Given the description of an element on the screen output the (x, y) to click on. 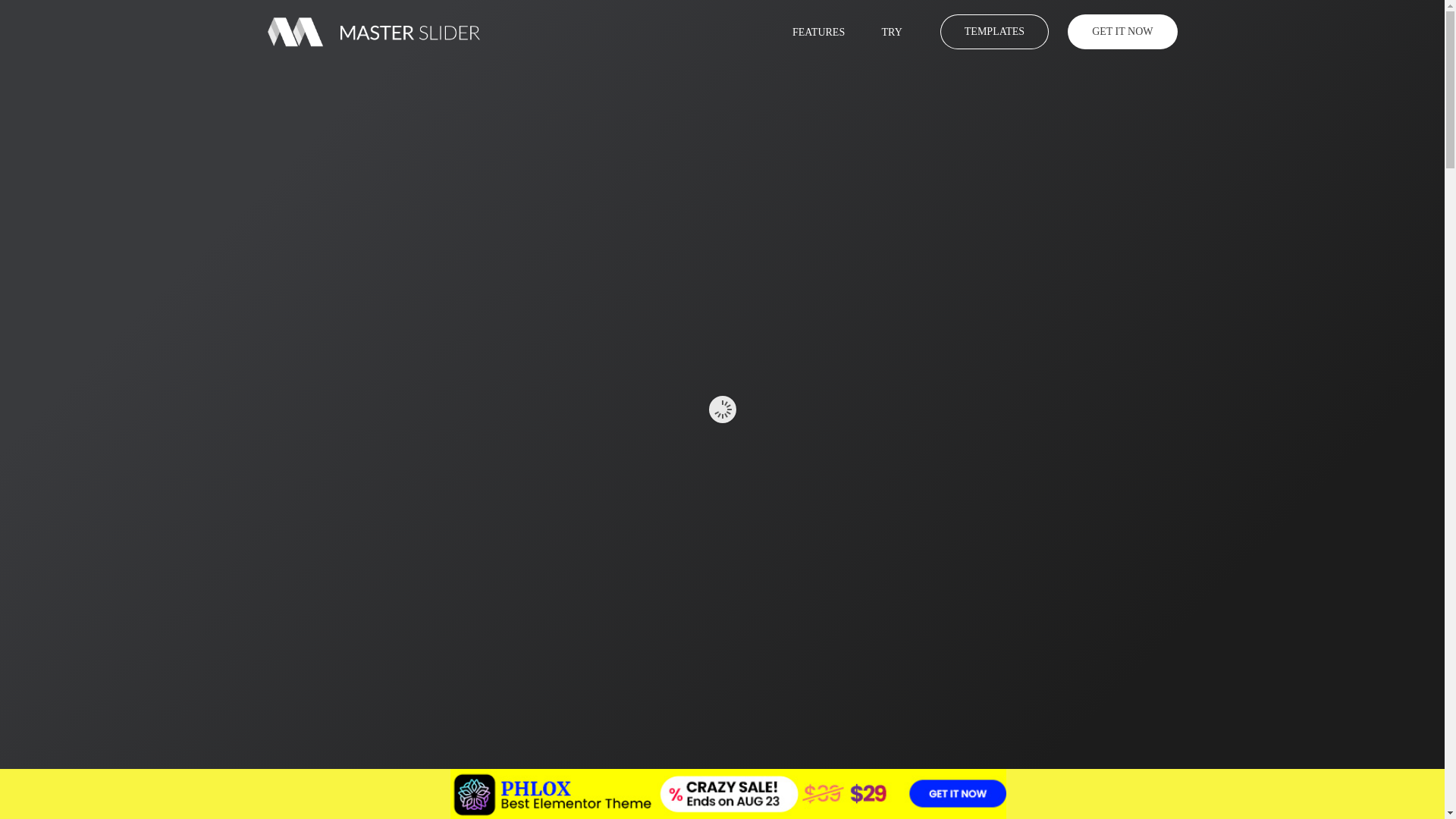
GET IT NOW (1121, 31)
FEATURES (825, 32)
TEMPLATES (994, 31)
